Given the description of an element on the screen output the (x, y) to click on. 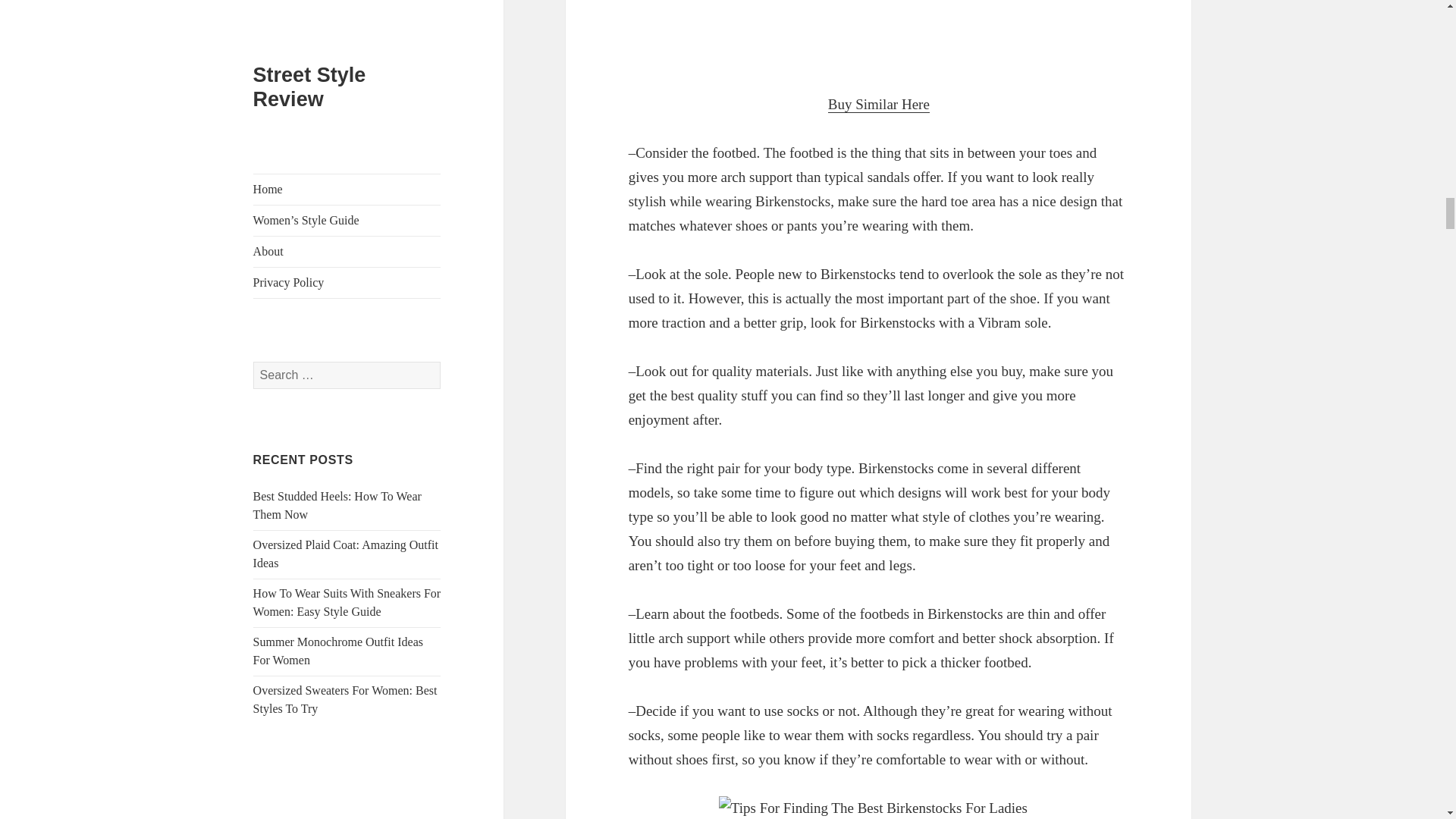
Tips For Finding The Best Birkenstocks For Ladies 2023 (879, 807)
Buy Similar Here (879, 104)
Tips For Finding The Best Birkenstocks For Ladies 2023 (877, 33)
